Given the description of an element on the screen output the (x, y) to click on. 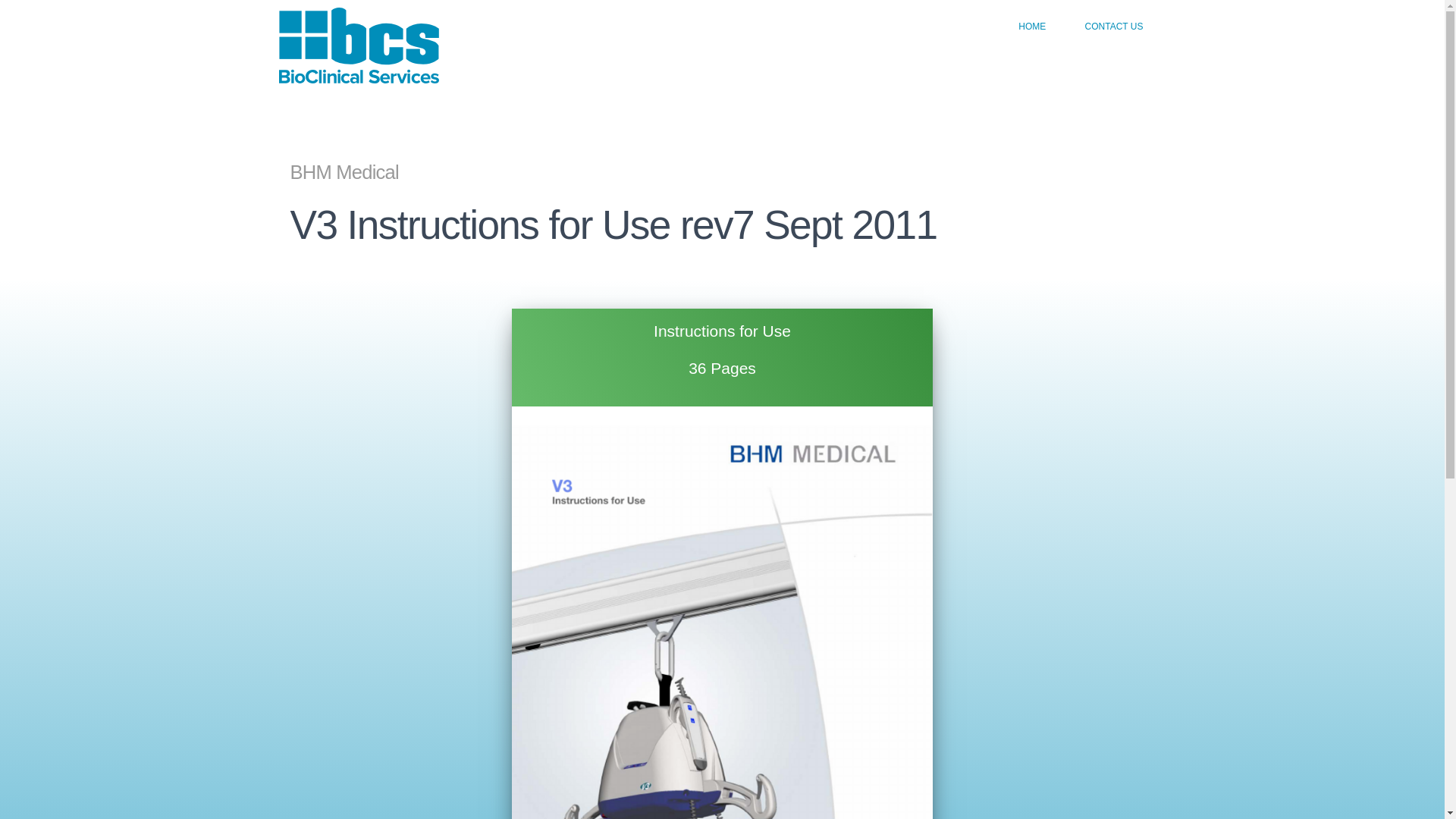
HOME (1024, 26)
CONTACT US (1105, 26)
BHM Medical (721, 172)
Home (359, 26)
